Given the description of an element on the screen output the (x, y) to click on. 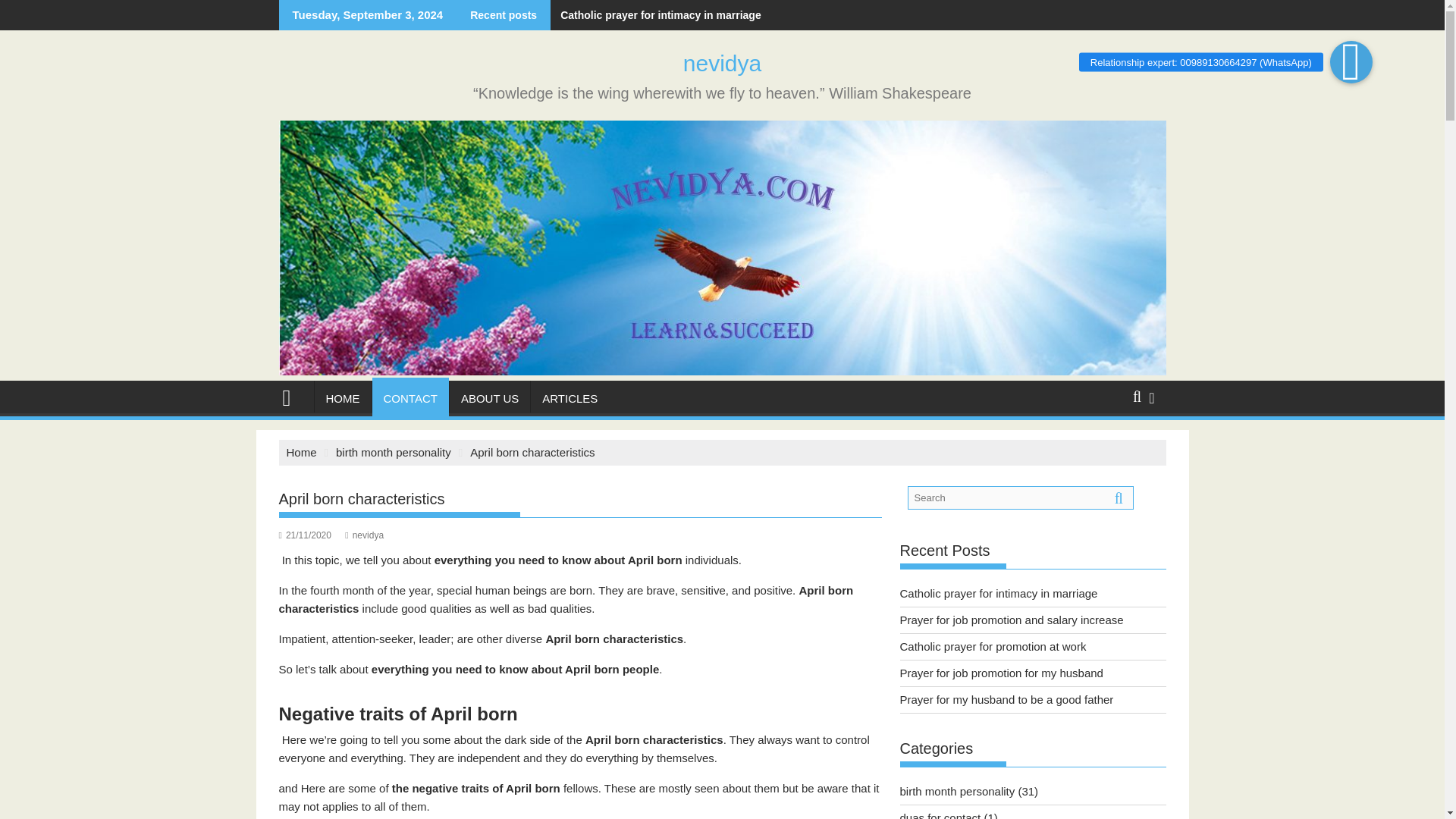
nevidya (293, 395)
Catholic prayer for intimacy in marriage (655, 15)
HOME (342, 398)
birth month personality (393, 451)
ABOUT US (489, 398)
Catholic prayer for intimacy in marriage (655, 15)
nevidya (721, 63)
Home (301, 451)
ARTICLES (569, 398)
nevidya (722, 370)
